Given the description of an element on the screen output the (x, y) to click on. 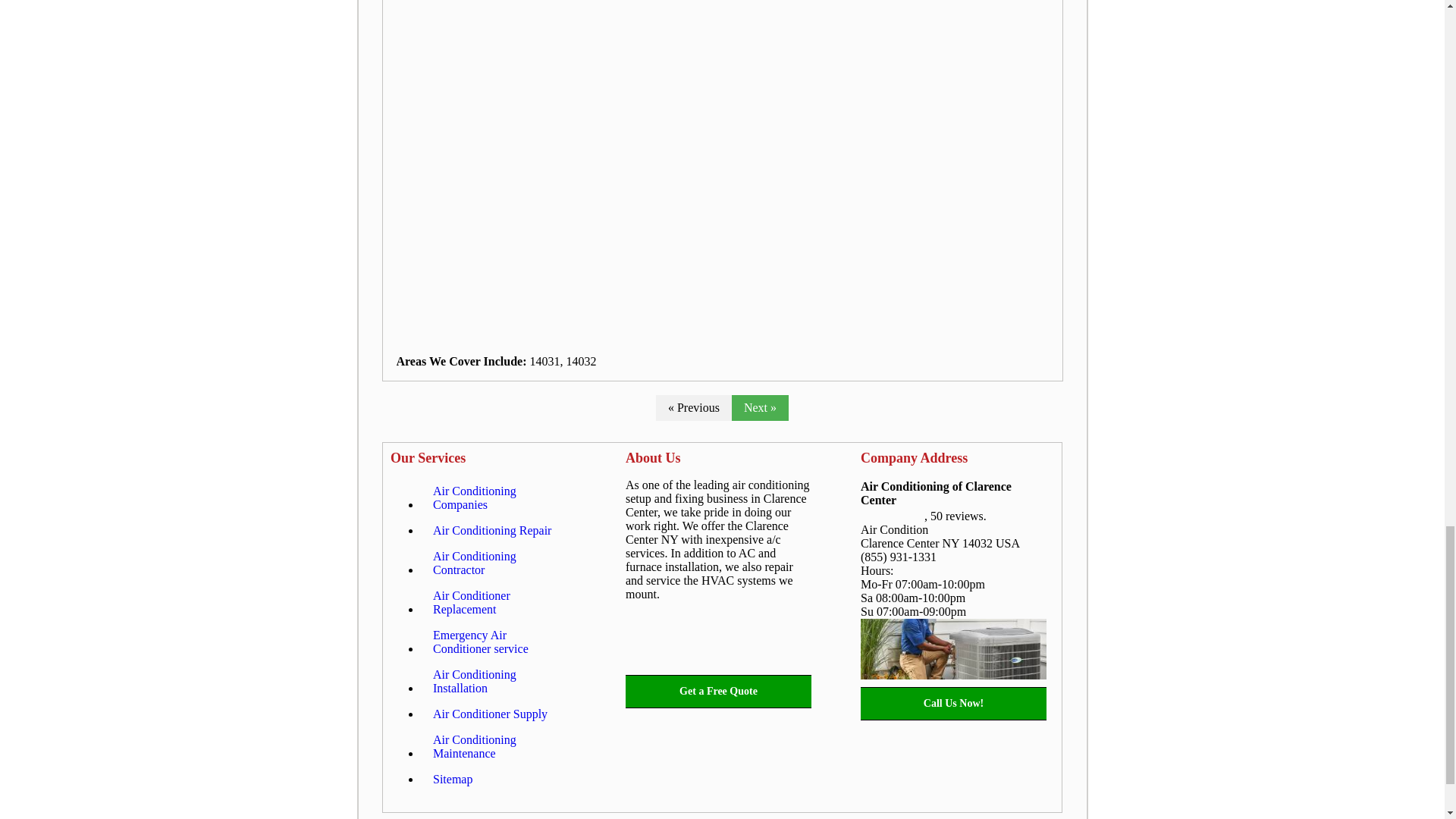
Air Conditioner Replacement (498, 602)
Air Conditioning Maintenance (498, 746)
Emergency Air Conditioner service (498, 641)
Get a Free Quote (718, 691)
Air Conditioning Contractor (498, 563)
Sitemap (452, 779)
Air Conditioning Installation (498, 681)
Air Conditioning Repair (491, 530)
Call Us Now! (953, 703)
Air Conditioner Supply (489, 714)
